Given the description of an element on the screen output the (x, y) to click on. 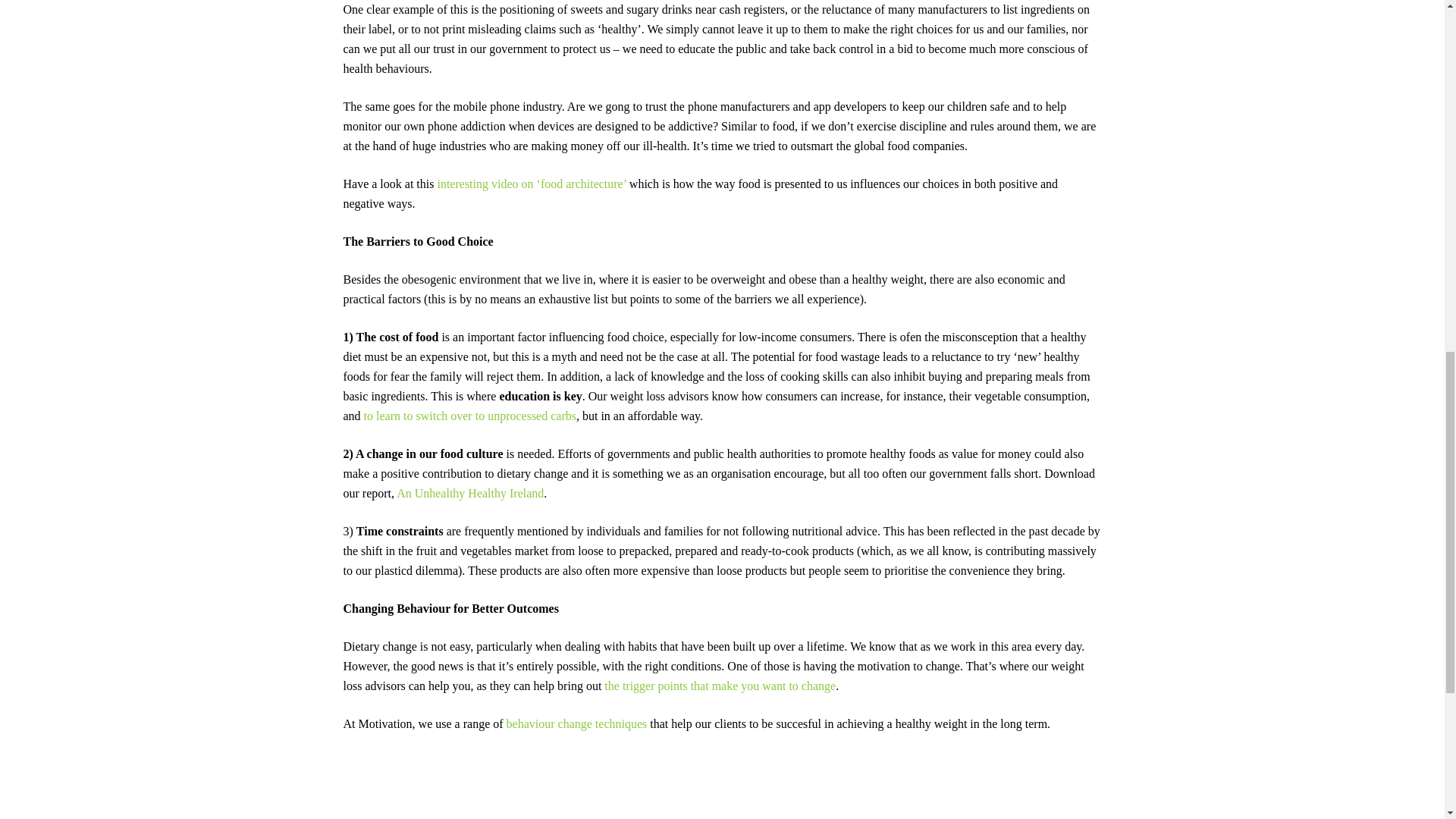
An Unhealthy Healthy Ireland (469, 492)
the trigger points that make you want to change (719, 685)
to learn to switch over to unprocessed carbs (470, 415)
behaviour change techniques (576, 723)
